Given the description of an element on the screen output the (x, y) to click on. 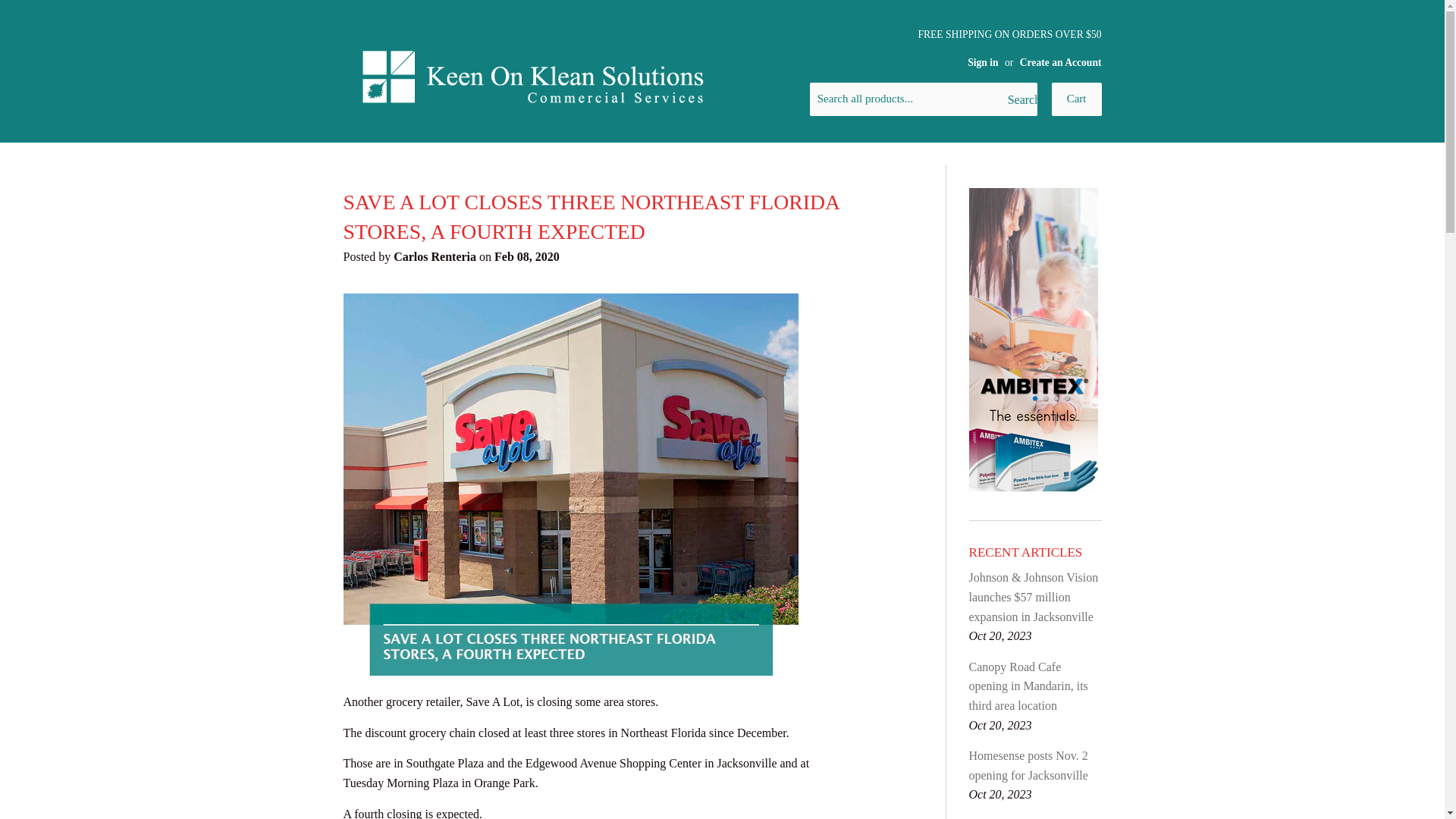
Cart (1076, 99)
Create an Account (1061, 61)
Homesense posts Nov. 2 opening for Jacksonville (1028, 765)
Sign in (982, 61)
Search (1019, 100)
